Given the description of an element on the screen output the (x, y) to click on. 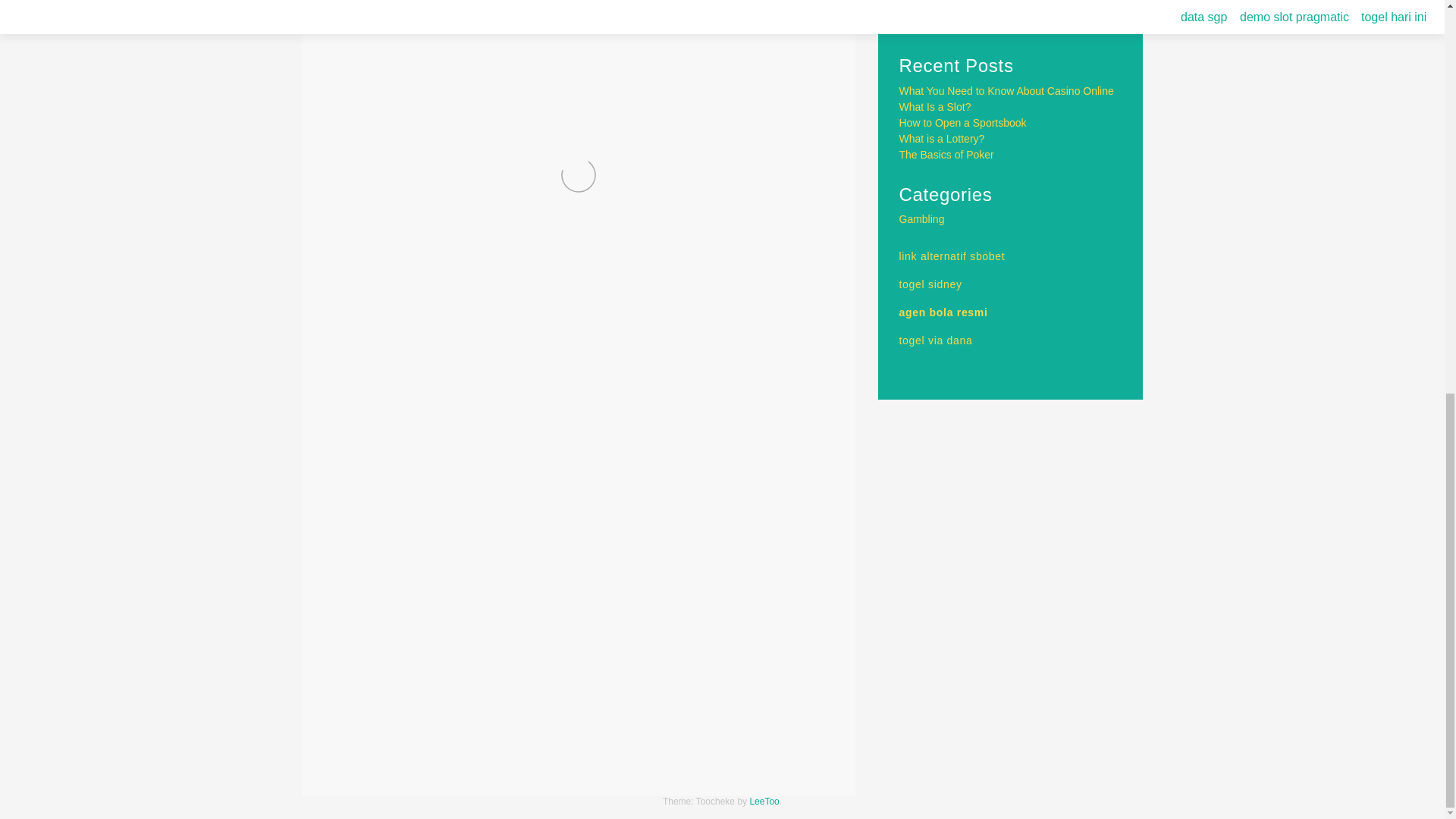
June 2022 (924, 9)
How to Open a Sportsbook (962, 122)
What is a Lottery? (942, 138)
May 2022 (921, 25)
What You Need to Know About Casino Online (1006, 91)
What Is a Casino Online?  (748, 762)
What Is a Slot? (935, 106)
The Basics of Poker (946, 154)
Gambling (403, 722)
 SBOBet Sportsbook Review (414, 762)
